Given the description of an element on the screen output the (x, y) to click on. 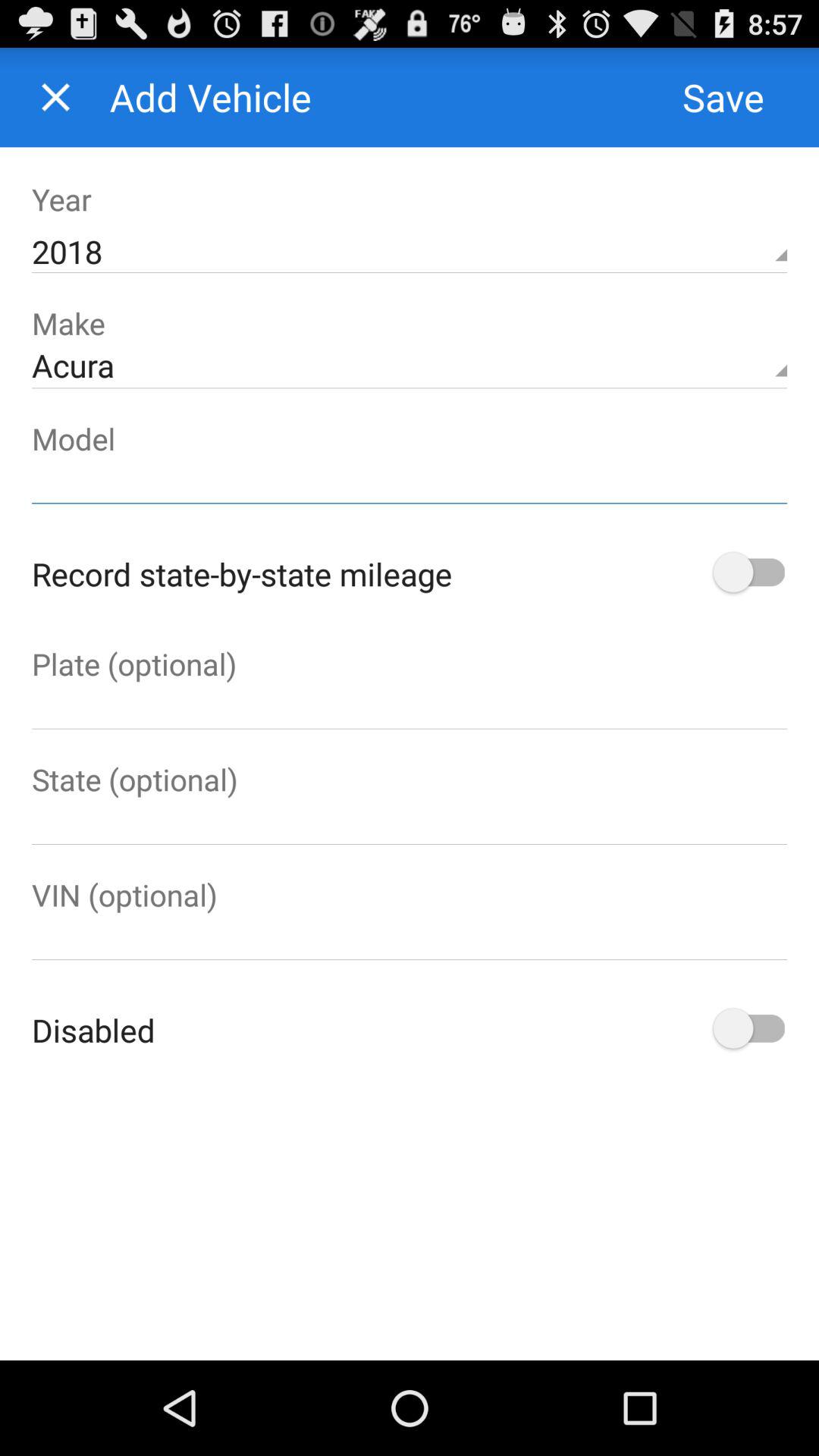
enter state (409, 821)
